Given the description of an element on the screen output the (x, y) to click on. 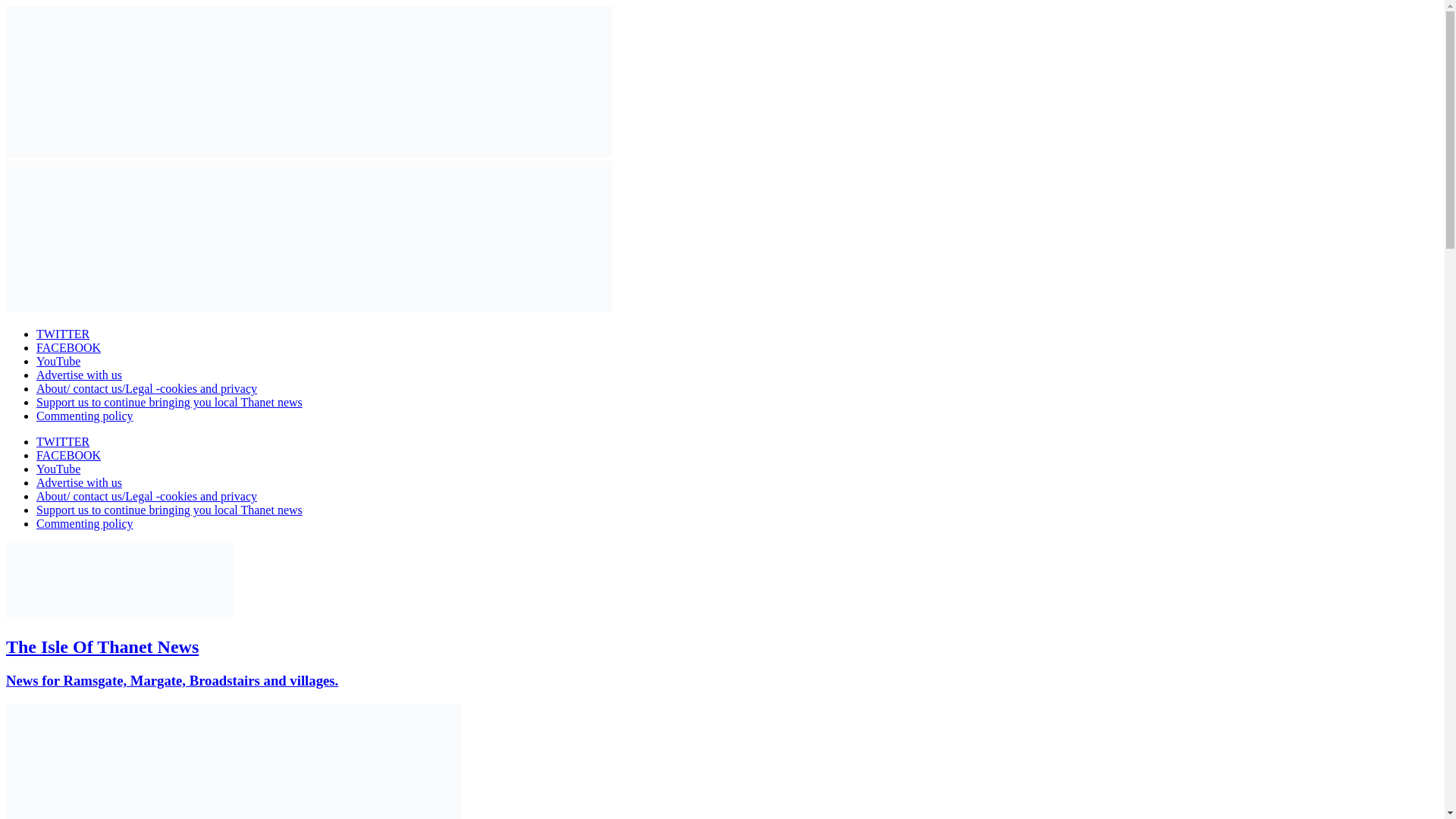
Support us to continue bringing you local Thanet news (169, 509)
TWITTER (62, 333)
TWITTER (62, 440)
Advertise with us (79, 481)
FACEBOOK (68, 347)
YouTube (58, 360)
Commenting policy (84, 522)
Advertise with us (79, 374)
FACEBOOK (68, 454)
Support us to continue bringing you local Thanet news (169, 401)
YouTube (58, 468)
Commenting policy (84, 415)
